Given the description of an element on the screen output the (x, y) to click on. 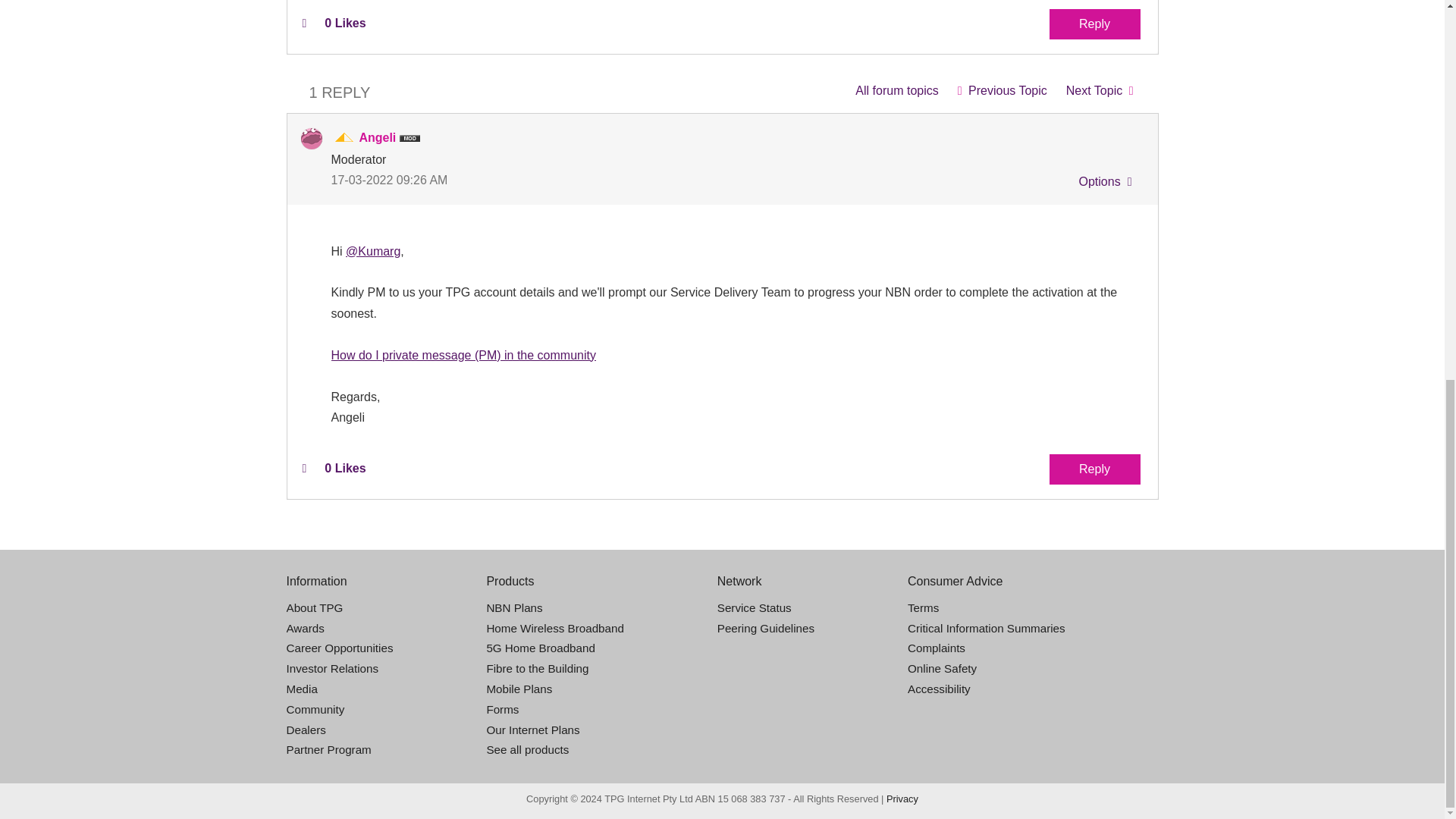
Angeli (310, 138)
Unable to activate NBN connection (1002, 90)
Moderator (344, 138)
The total number of kudos this post has received. (344, 23)
All Ethernet ports not working on my Archer VR1600v (1099, 90)
NBN Installation (896, 90)
